Given the description of an element on the screen output the (x, y) to click on. 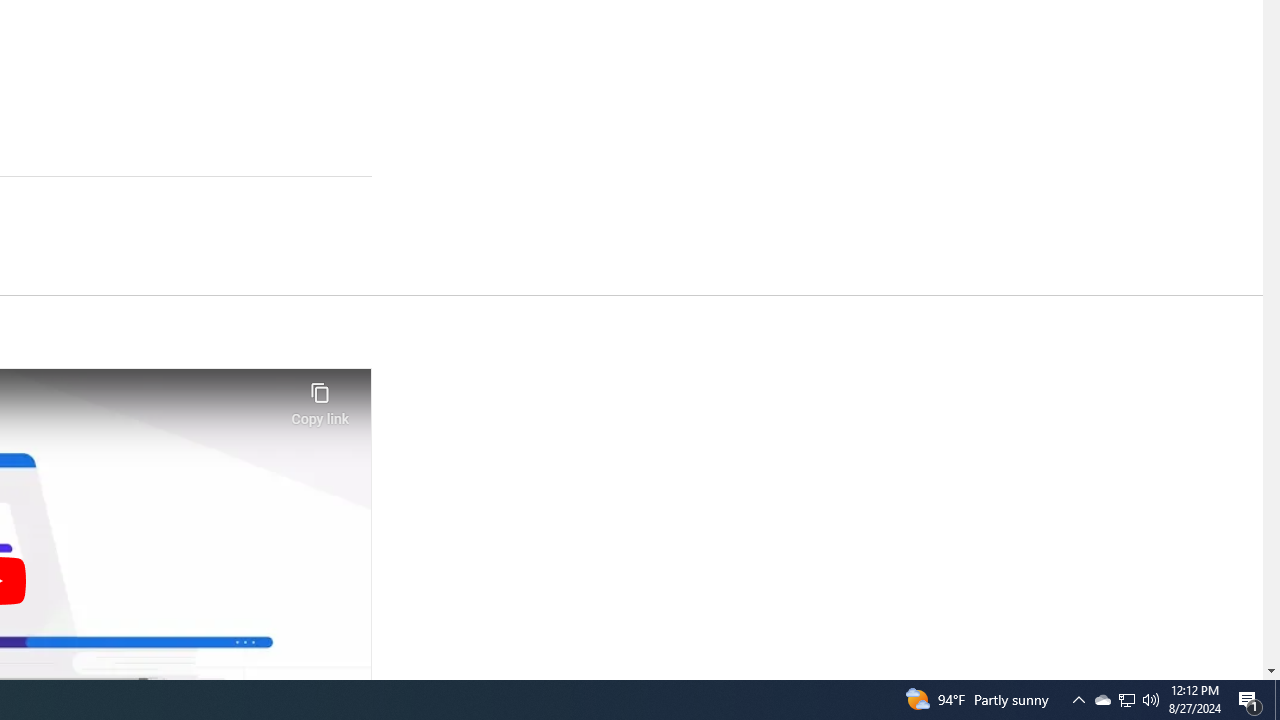
Copy link (319, 398)
